Given the description of an element on the screen output the (x, y) to click on. 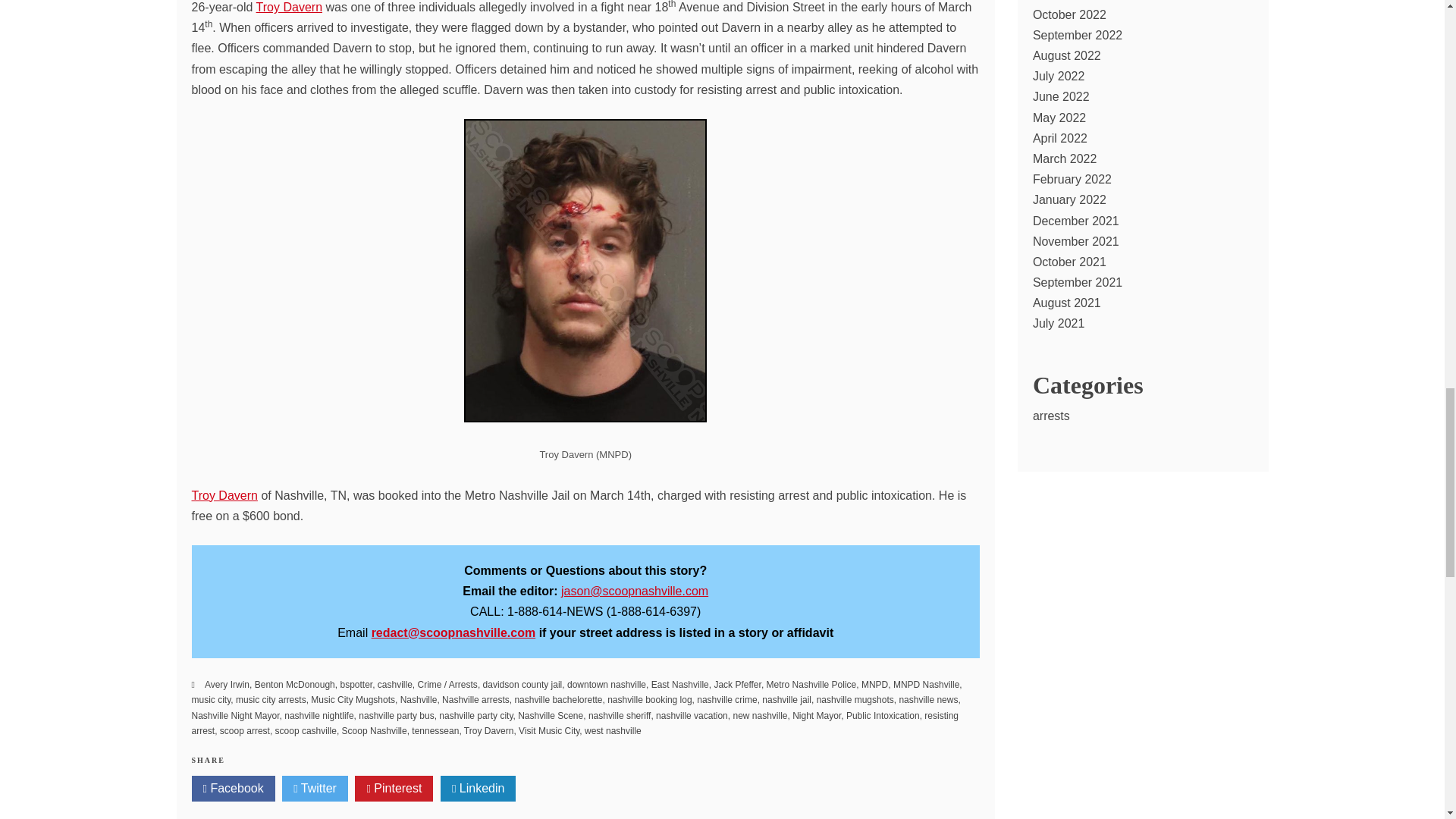
MNPD (874, 684)
bspotter (355, 684)
Avery Irwin (226, 684)
music city (210, 699)
davidson county jail (522, 684)
Troy Davern (223, 495)
Jack Pfeffer (736, 684)
Nashville arrests (475, 699)
Benton McDonough (294, 684)
downtown nashville (606, 684)
Troy Davern (288, 6)
Nashville (419, 699)
East Nashville (679, 684)
music city arrests (270, 699)
Music City Mugshots (352, 699)
